Given the description of an element on the screen output the (x, y) to click on. 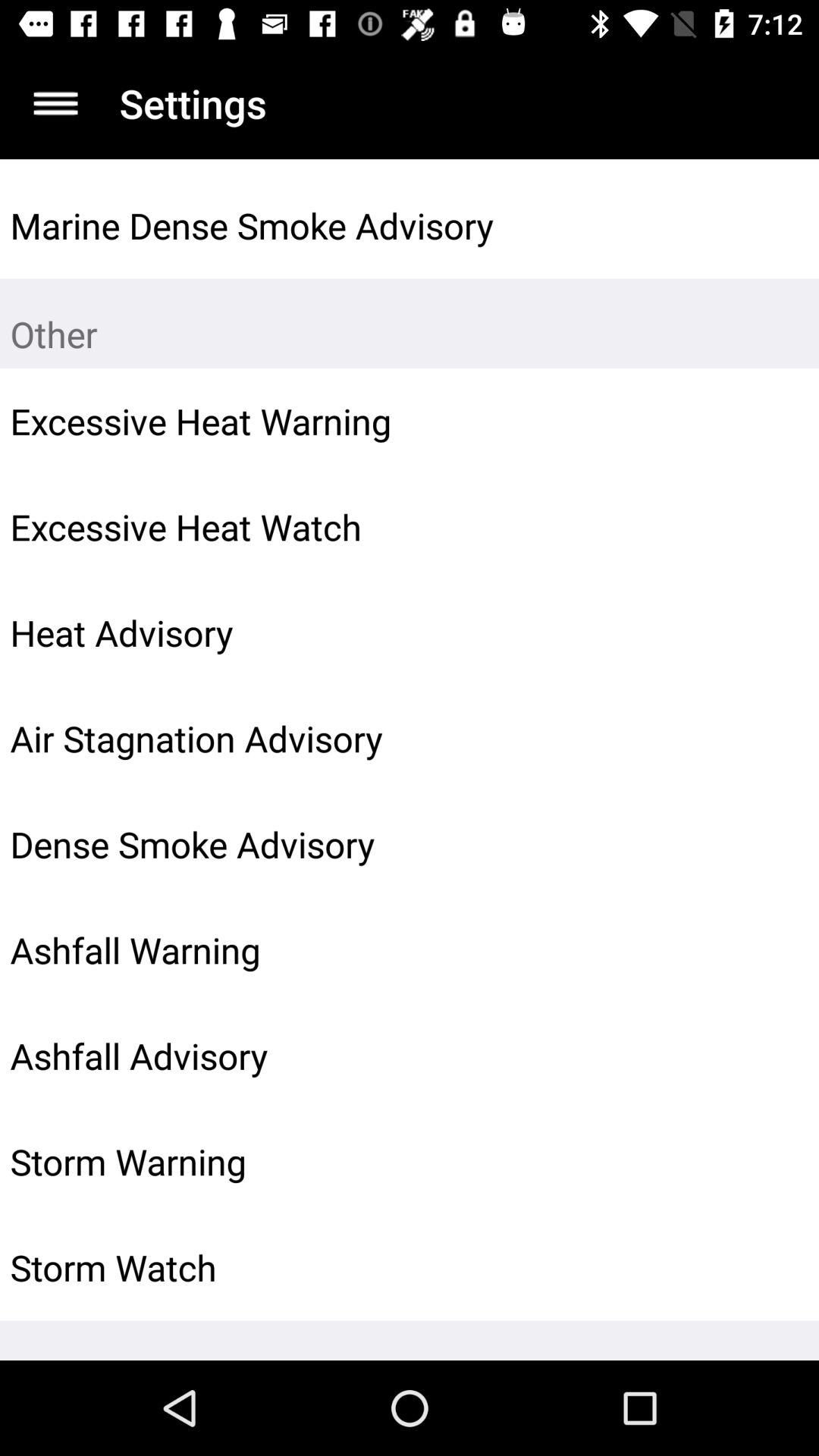
click icon next to heat advisory (771, 632)
